Given the description of an element on the screen output the (x, y) to click on. 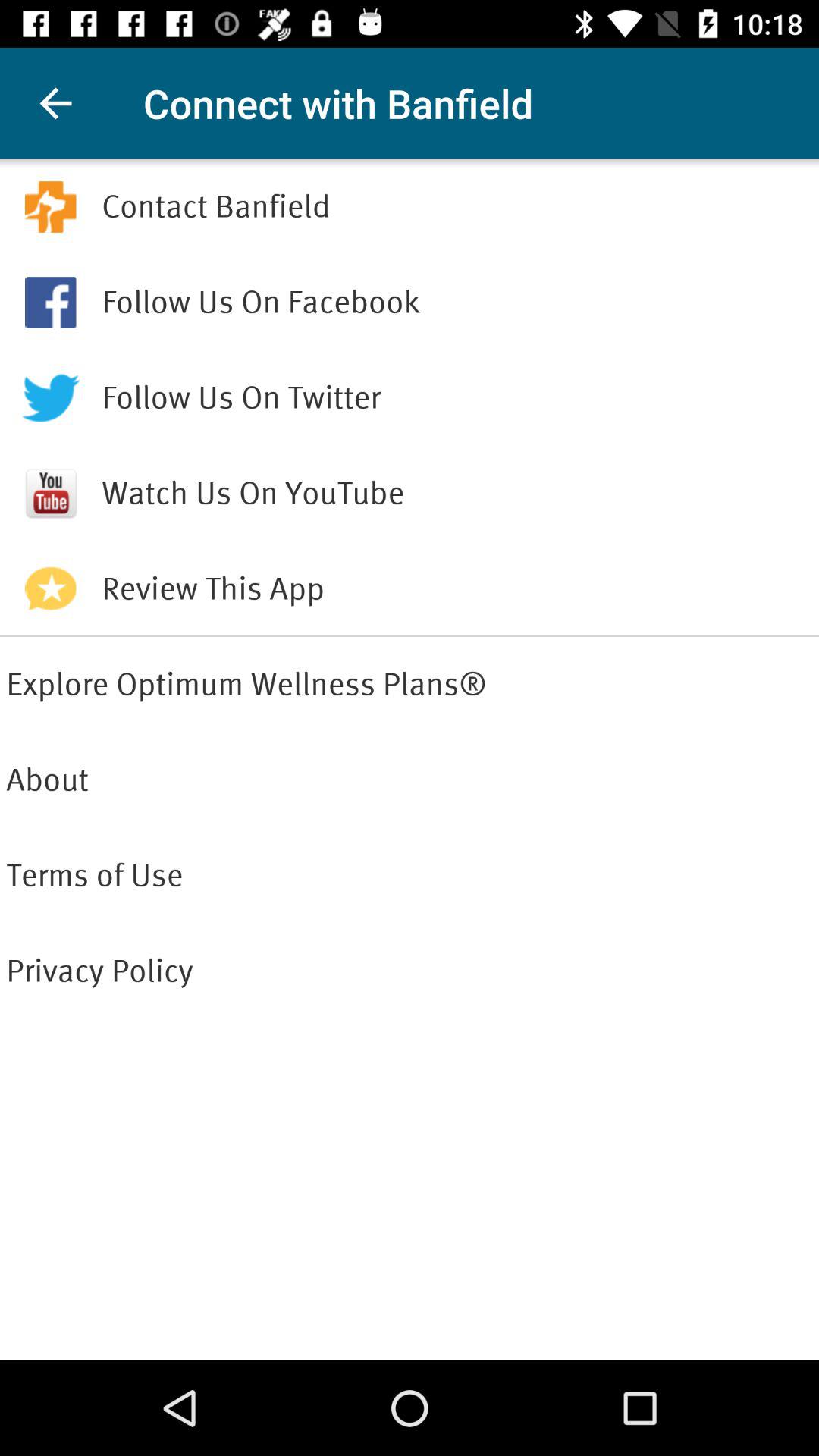
press the item above the terms of use item (409, 780)
